Given the description of an element on the screen output the (x, y) to click on. 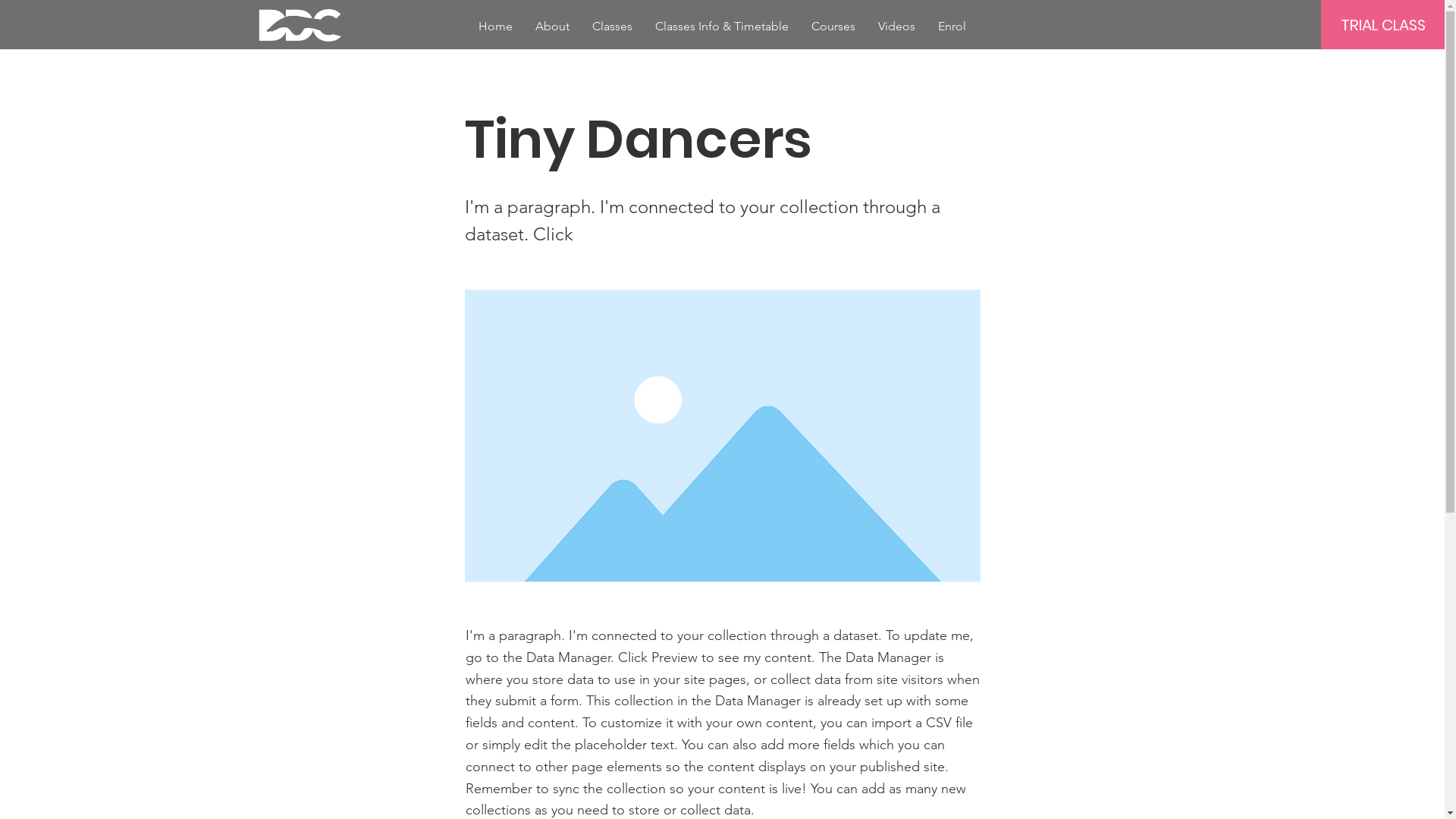
Classes Element type: text (611, 26)
Enrol Element type: text (951, 26)
Tiny Dancers Element type: hover (721, 435)
TRIAL CLASS Element type: text (1382, 24)
Classes Info & Timetable Element type: text (721, 26)
Home Element type: text (495, 26)
Courses Element type: text (833, 26)
Videos Element type: text (896, 26)
About Element type: text (552, 26)
